Given the description of an element on the screen output the (x, y) to click on. 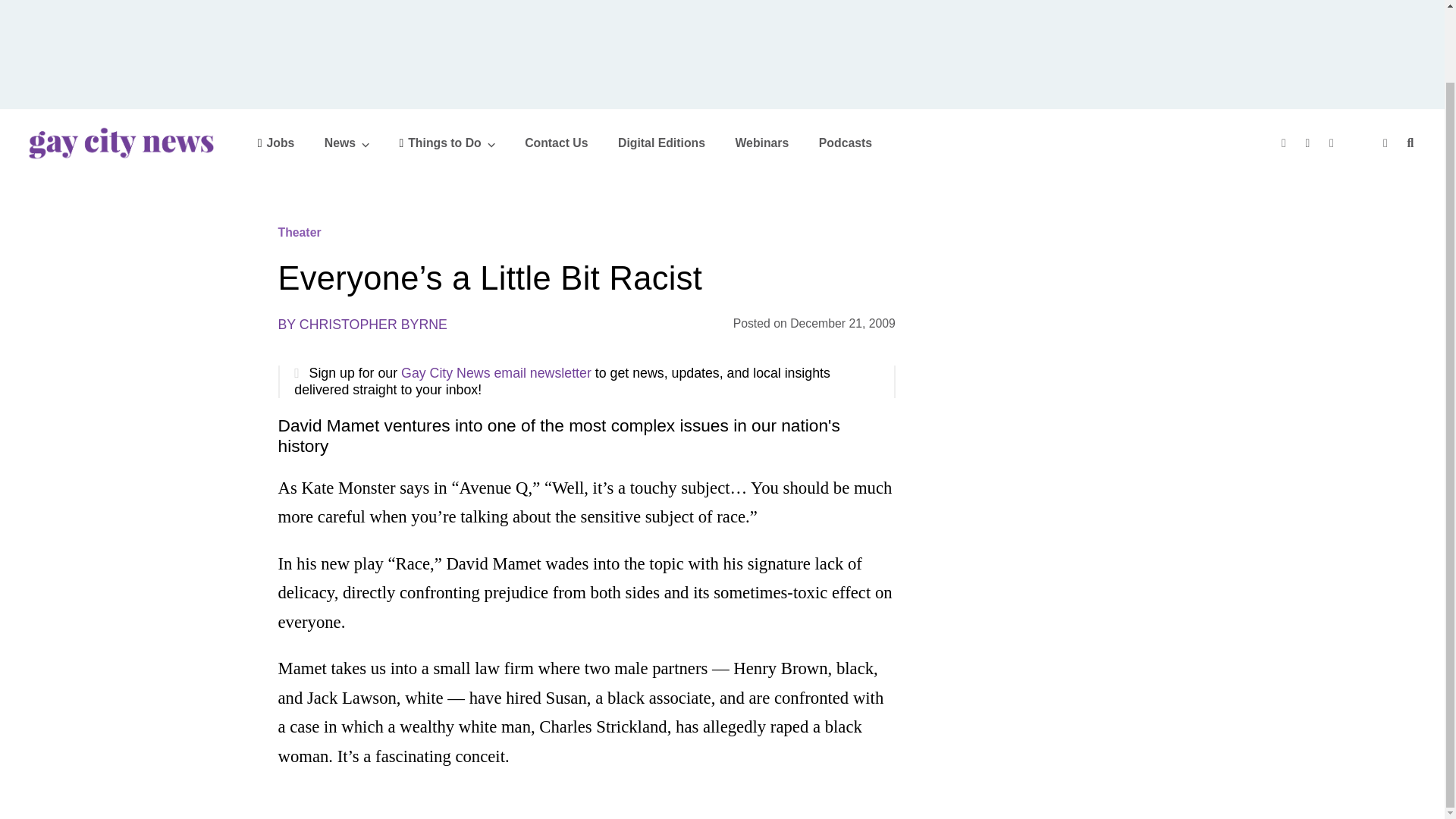
Jobs (276, 142)
Facebook (1285, 143)
Things to Do (446, 142)
Webinars (762, 142)
Contact Us (556, 142)
Digital Editions (660, 142)
Twitter (1310, 143)
Instagram (1333, 143)
News (346, 142)
Podcasts (845, 142)
